Given the description of an element on the screen output the (x, y) to click on. 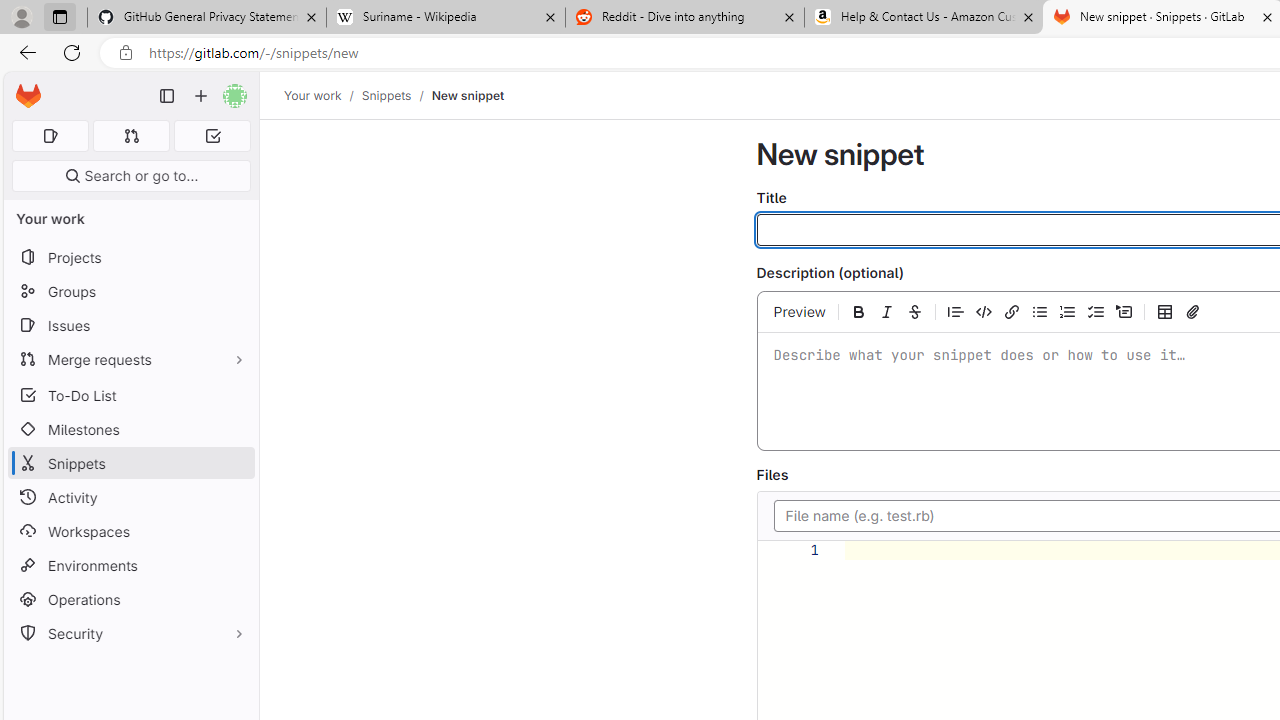
New snippet (468, 95)
Security (130, 633)
Groups (130, 291)
Add bold text (Ctrl+B) (858, 311)
Add a link (Ctrl+K) (1011, 311)
Snippets (130, 463)
Projects (130, 257)
Add a numbered list (1068, 311)
Activity (130, 497)
Security (130, 633)
Issues (130, 325)
Merge requests (130, 358)
New snippet (468, 95)
